Given the description of an element on the screen output the (x, y) to click on. 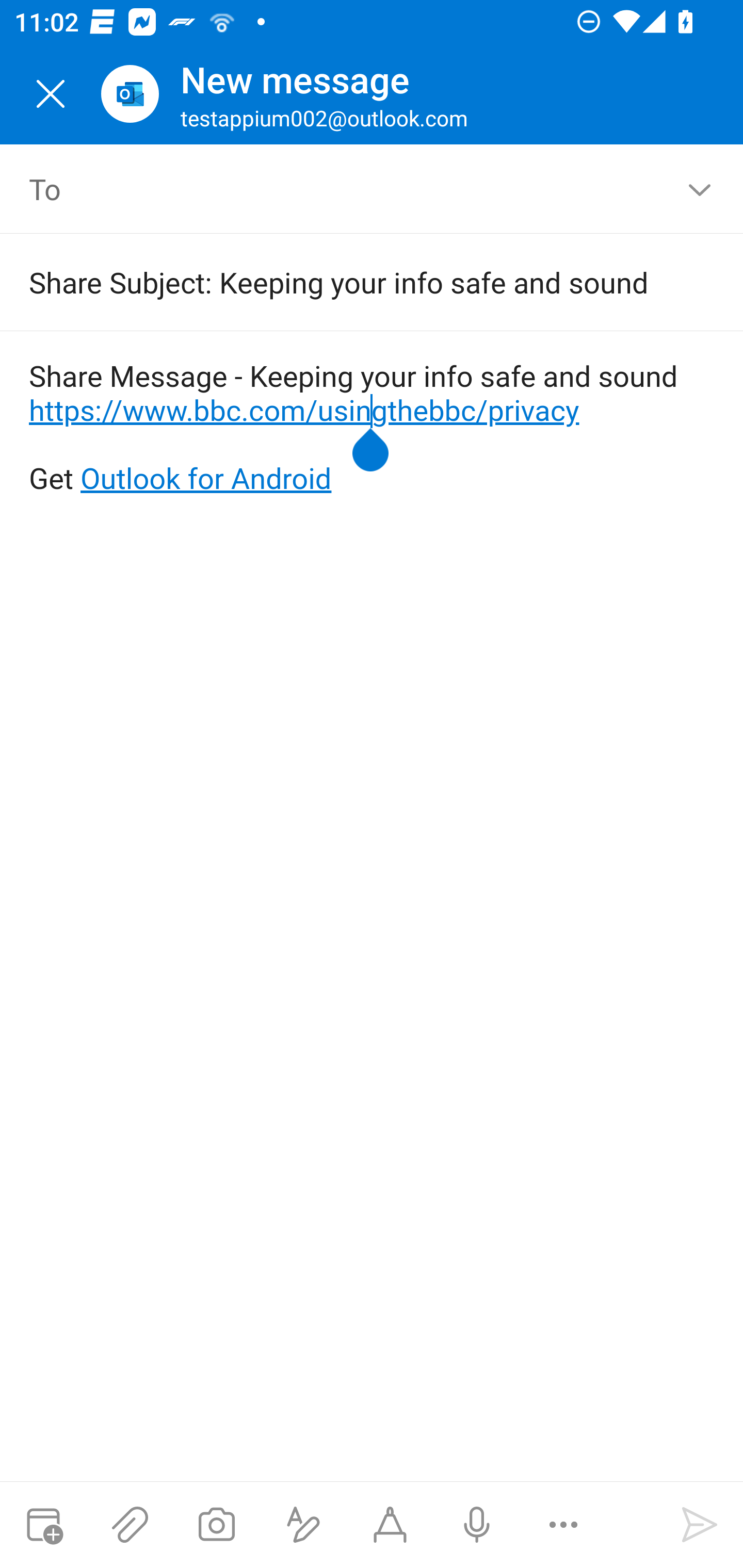
Close (50, 93)
Share Subject: Keeping your info safe and sound (342, 281)
Attach meeting (43, 1524)
Attach files (129, 1524)
Take a photo (216, 1524)
Show formatting options (303, 1524)
Start Ink compose (389, 1524)
Dictation (476, 1524)
More options (563, 1524)
Send (699, 1524)
